Given the description of an element on the screen output the (x, y) to click on. 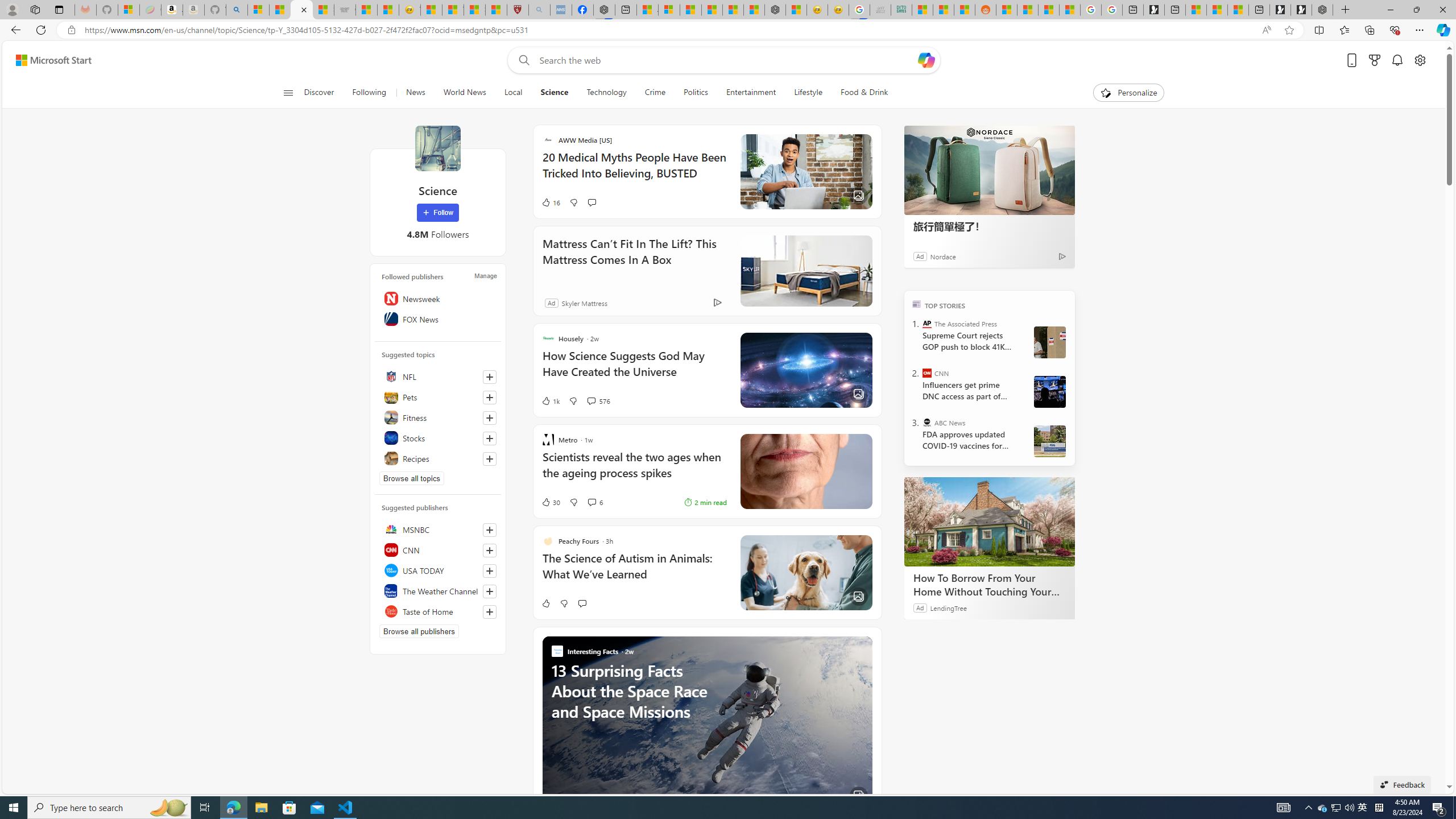
 ATS_2336.jpg (1049, 391)
Recipes (437, 458)
